Given the description of an element on the screen output the (x, y) to click on. 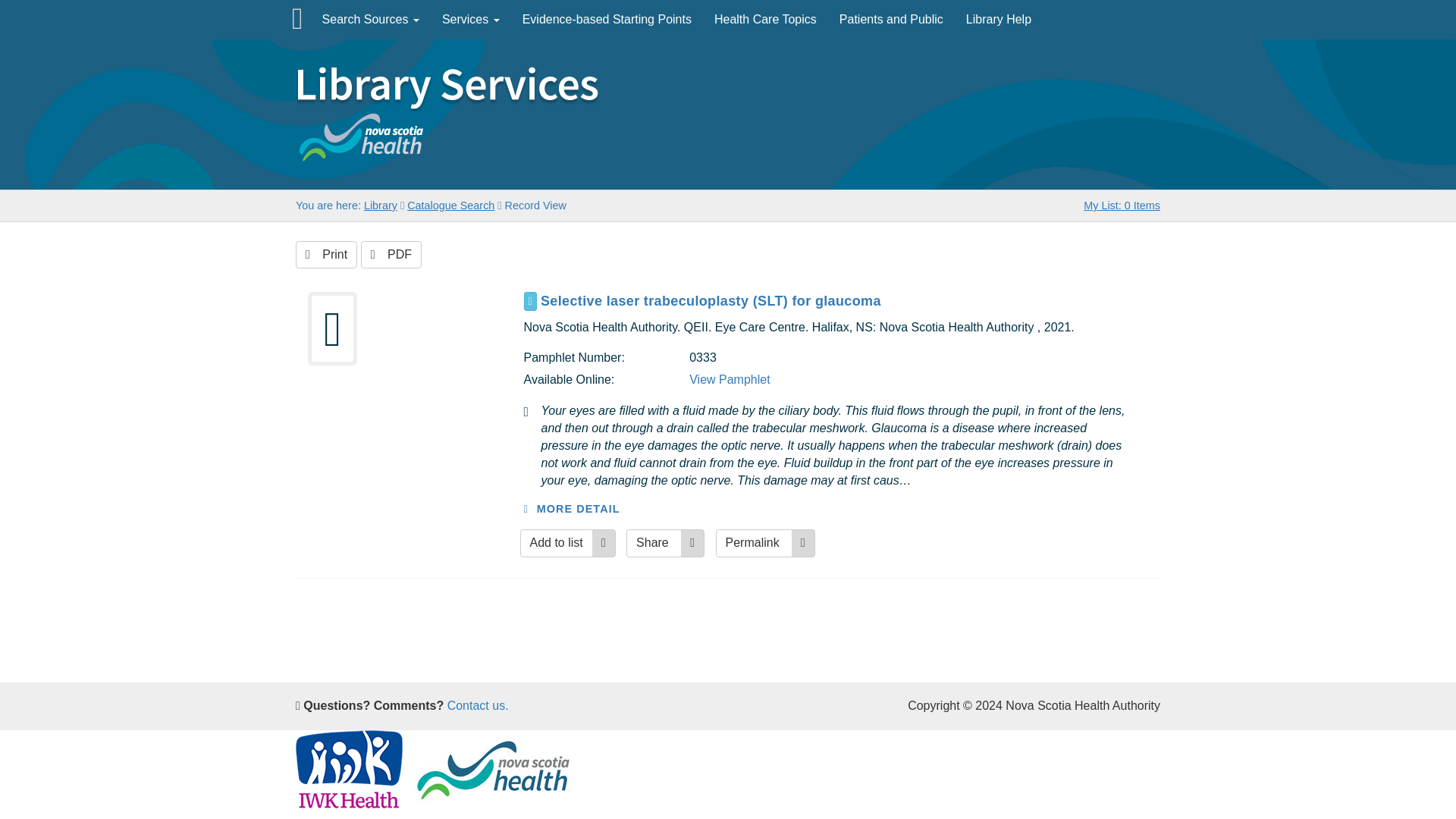
My List: 0 Items (1121, 205)
Health Care Topics (765, 19)
Toggle Full Record (844, 301)
Permalink (765, 543)
Services (470, 19)
Add to list (567, 543)
Print (325, 254)
Search Sources (370, 19)
Add to list (567, 543)
Evidence-based Starting Points (607, 19)
Patients and Public (891, 19)
Library Help (998, 19)
View Pamphlet (729, 379)
Library (380, 205)
PDF (391, 254)
